Given the description of an element on the screen output the (x, y) to click on. 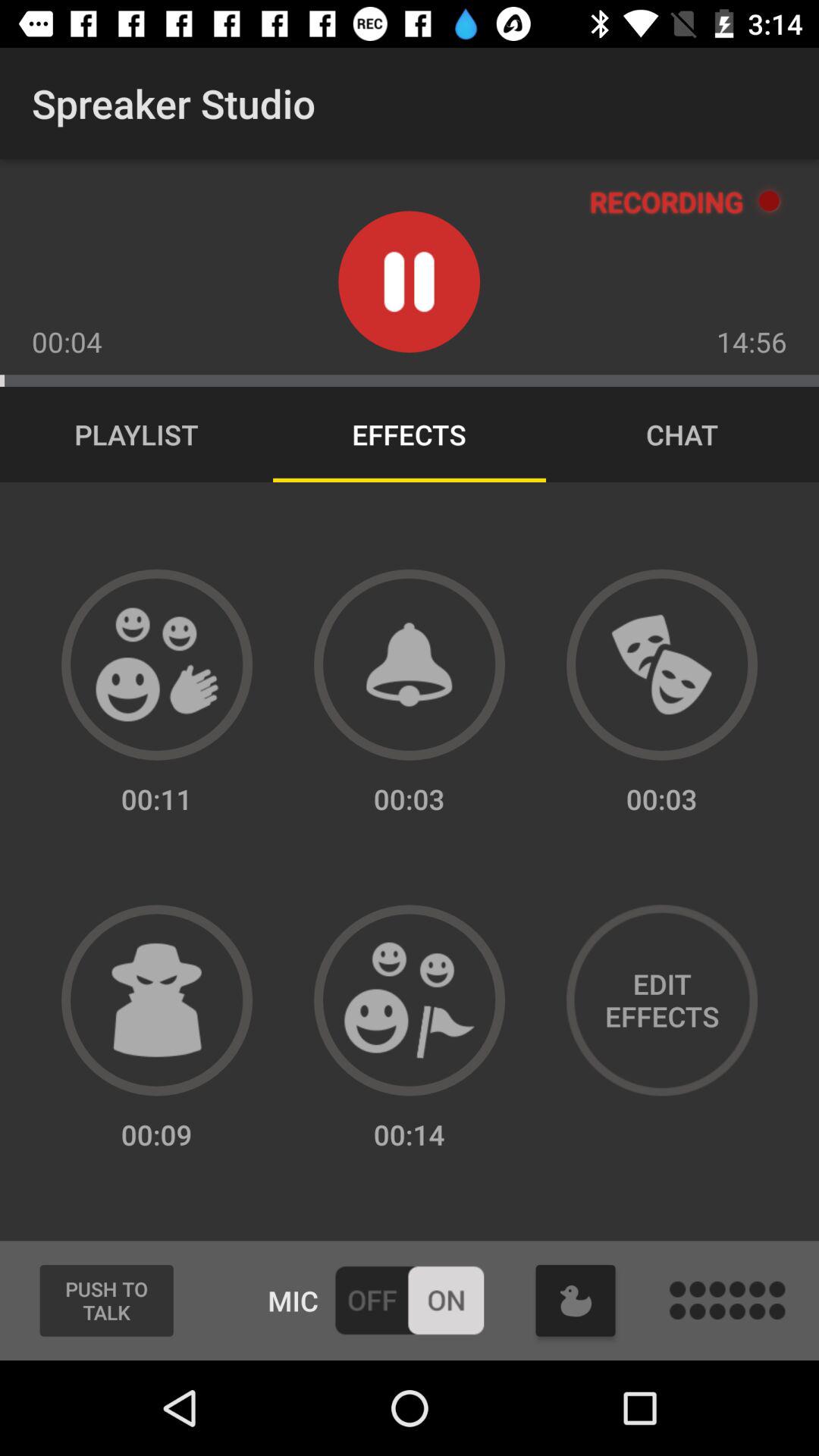
turn mic on or off (409, 1300)
